Given the description of an element on the screen output the (x, y) to click on. 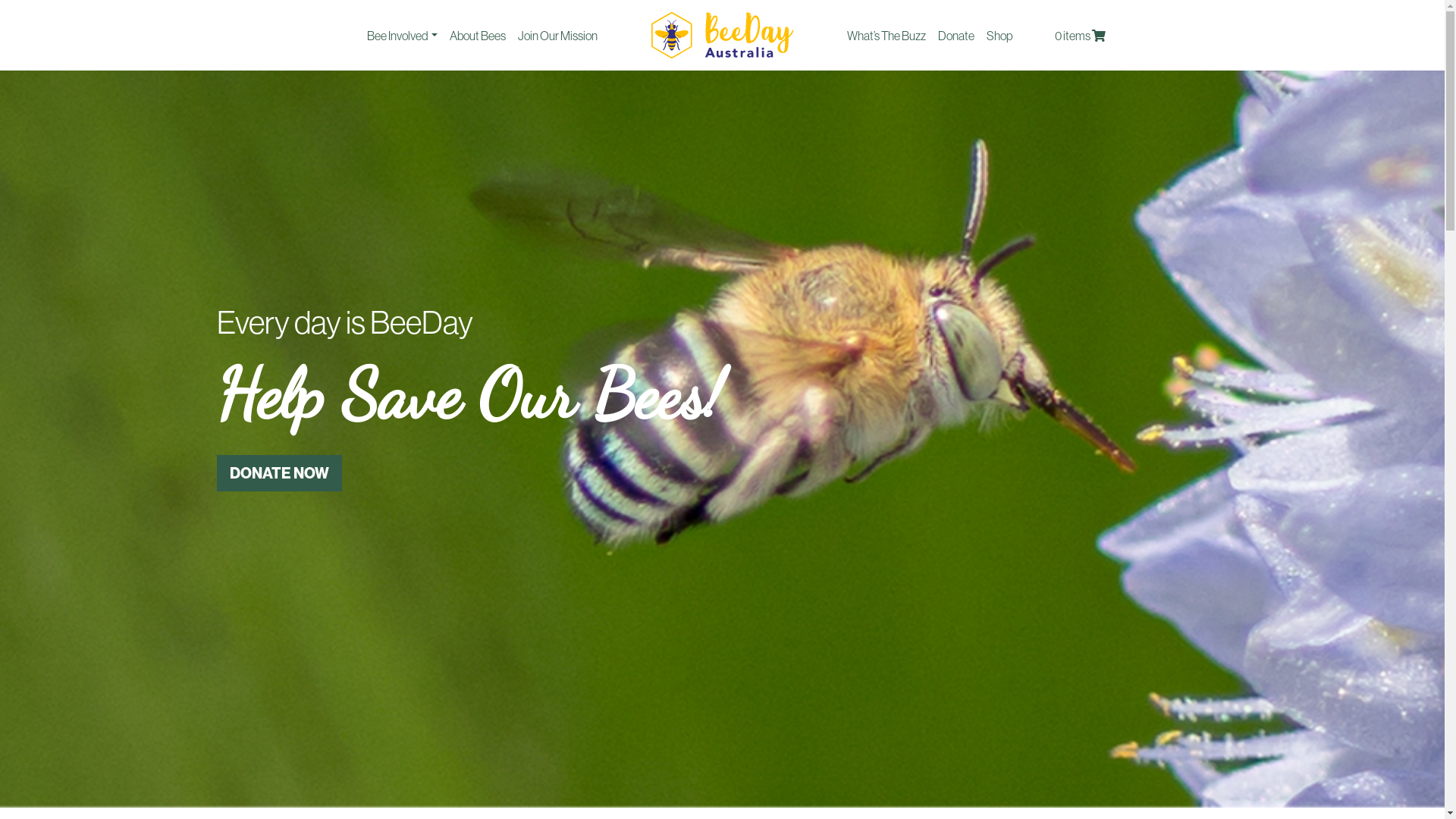
Shop Element type: text (999, 34)
About Bees Element type: text (477, 34)
Join Our Mission Element type: text (557, 34)
Bee Involved Element type: text (401, 34)
0 items Element type: text (1079, 34)
DONATE NOW Element type: text (279, 473)
Donate Element type: text (955, 34)
